Given the description of an element on the screen output the (x, y) to click on. 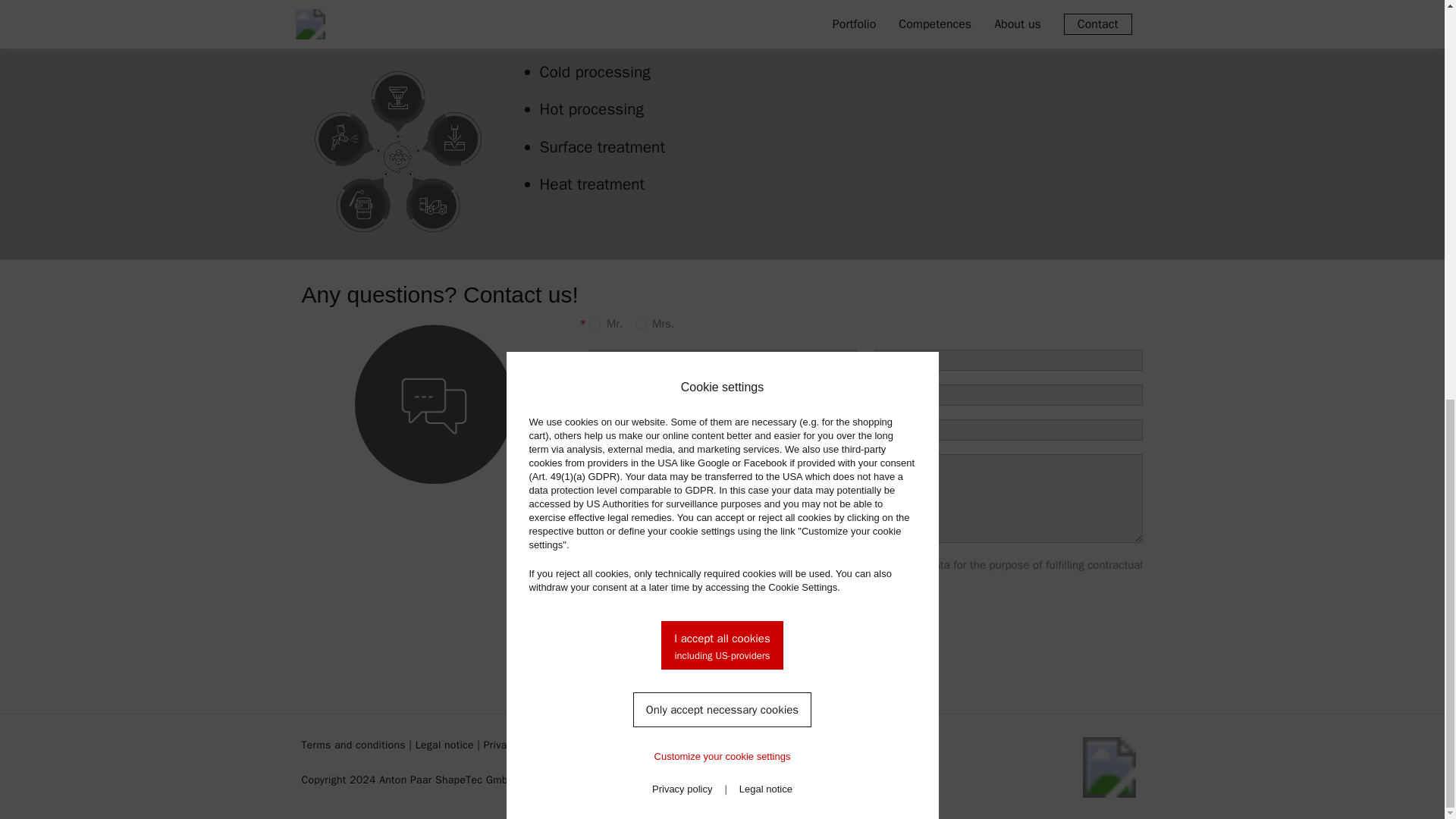
Mrs. (640, 324)
Mr. (594, 324)
Submit (619, 623)
yes (594, 564)
